Given the description of an element on the screen output the (x, y) to click on. 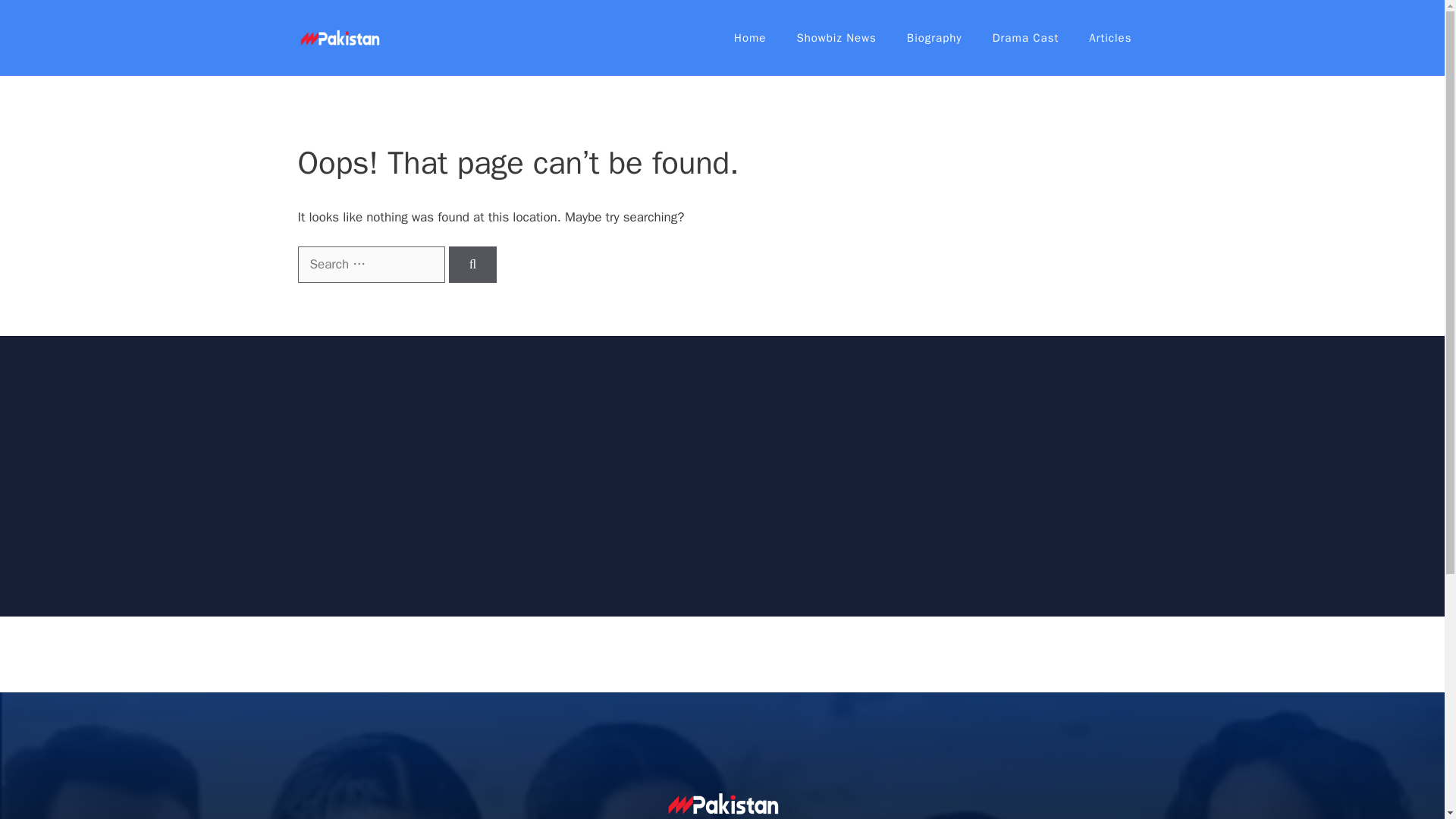
Biography (933, 37)
Articles (1110, 37)
Search for: (370, 264)
Showbiz News (835, 37)
Drama Cast (1025, 37)
Home (749, 37)
